Given the description of an element on the screen output the (x, y) to click on. 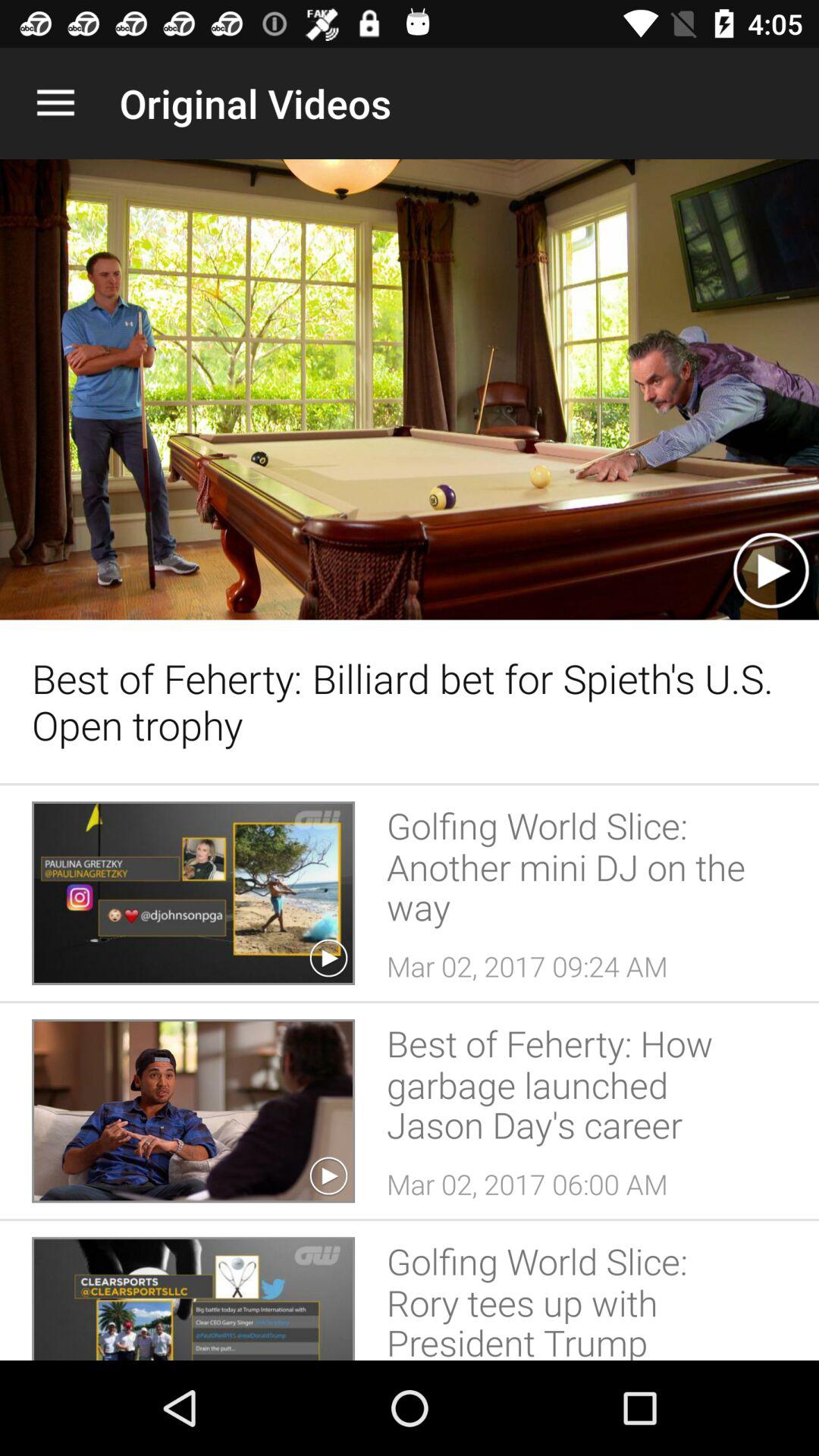
turn off the item to the left of the original videos app (55, 103)
